Given the description of an element on the screen output the (x, y) to click on. 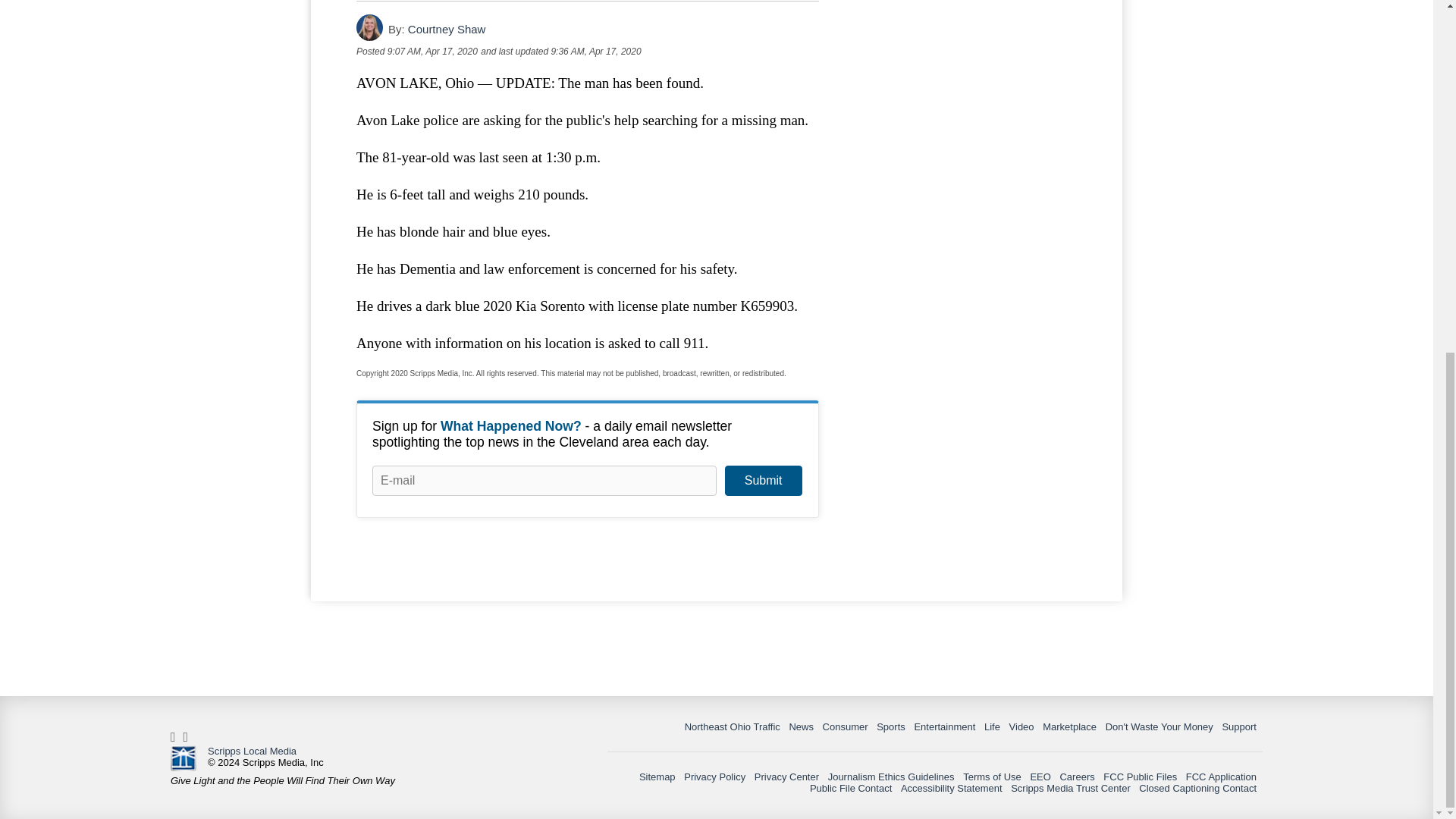
Submit (763, 481)
